Given the description of an element on the screen output the (x, y) to click on. 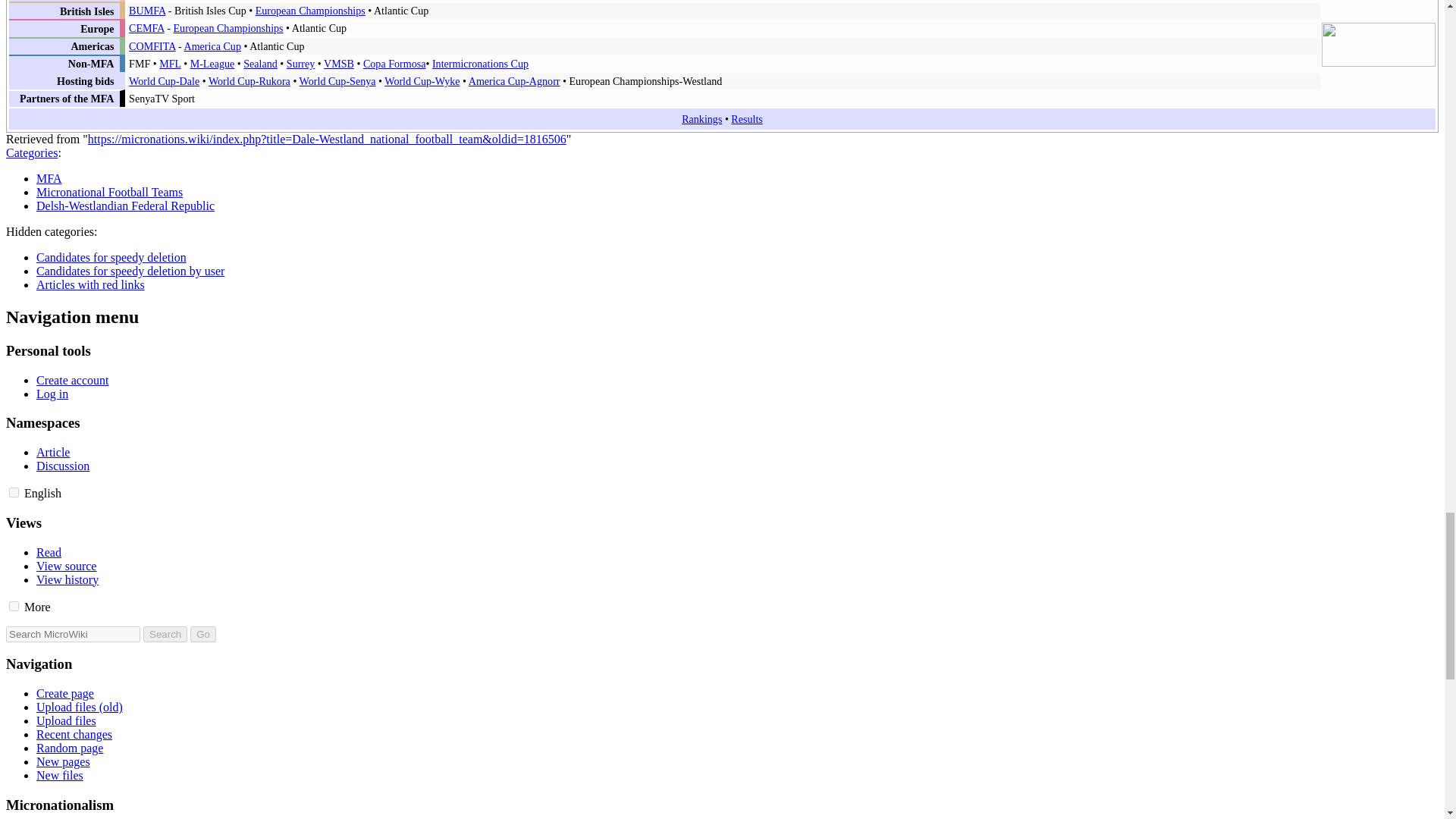
on (13, 492)
Go (202, 634)
Search (164, 634)
Go (202, 634)
Search (164, 634)
on (13, 605)
